Given the description of an element on the screen output the (x, y) to click on. 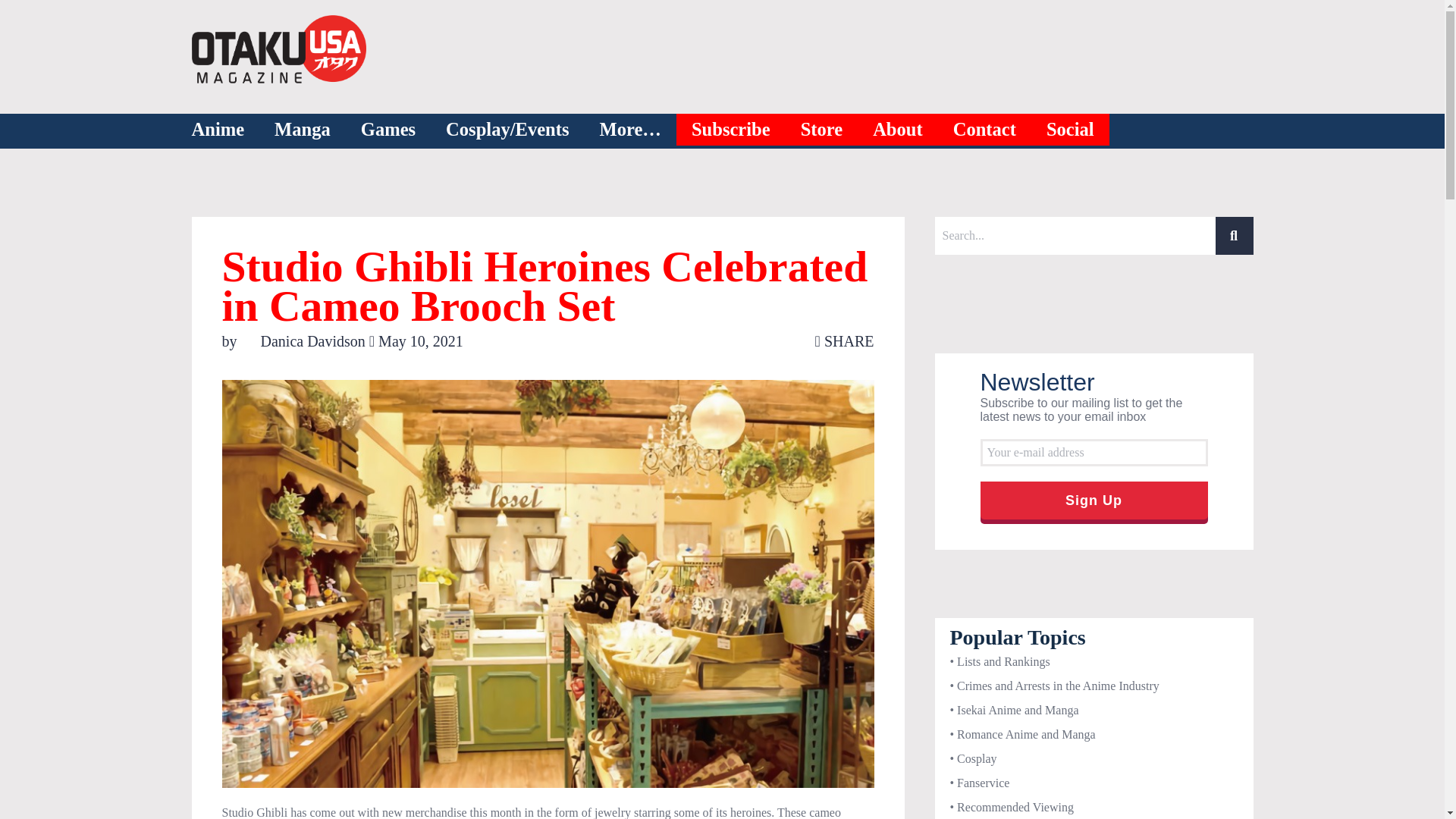
About (897, 129)
Manga (302, 129)
SHARE (845, 340)
Subscribe (730, 129)
Anime (217, 129)
Store (821, 129)
Sign Up (1093, 500)
Contact (984, 129)
Games (387, 129)
Danica Davidson (304, 340)
